Given the description of an element on the screen output the (x, y) to click on. 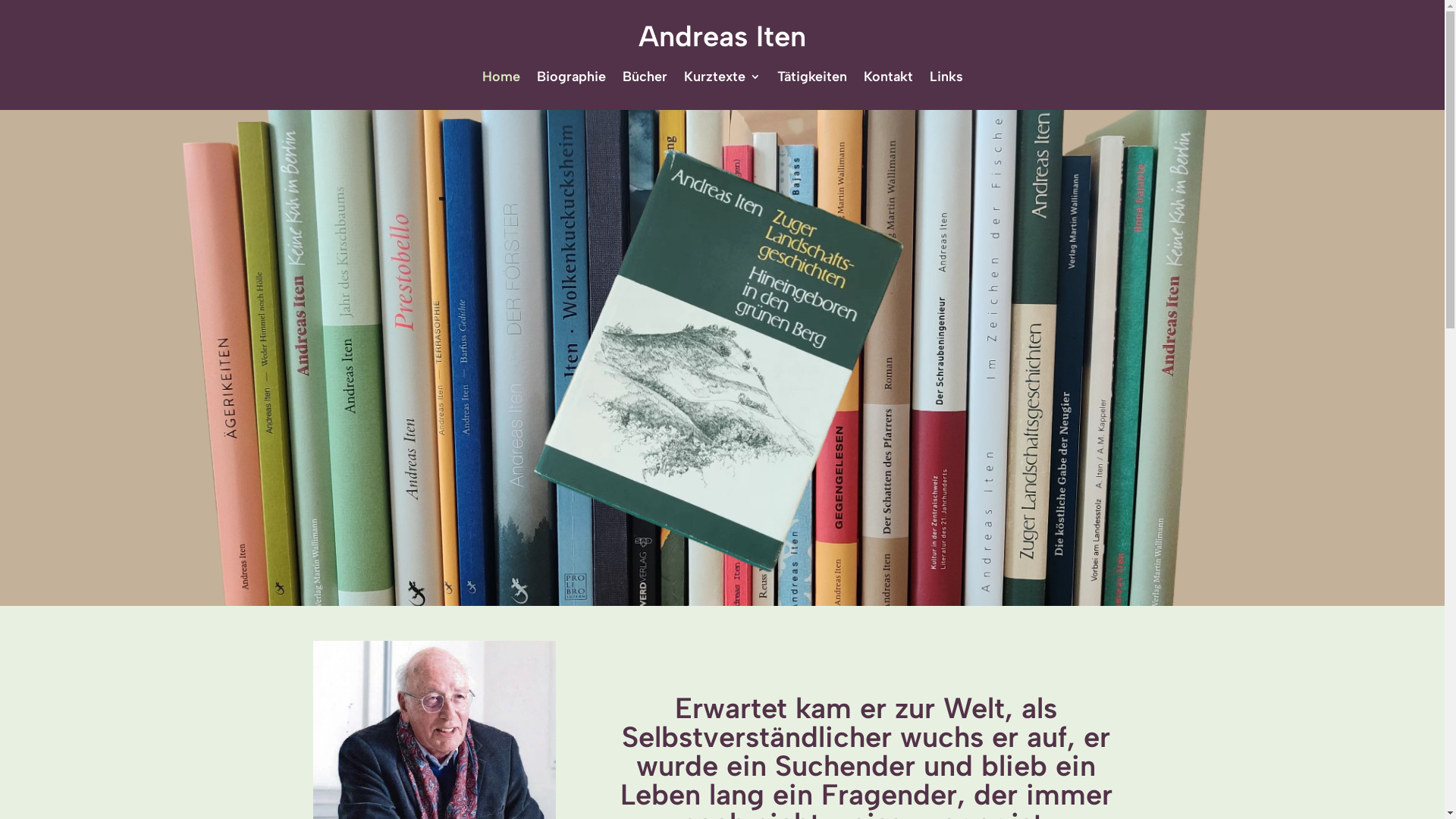
Kontakt Element type: text (887, 79)
Biographie Element type: text (570, 79)
tmpimg Element type: hover (721, 357)
Kurztexte Element type: text (722, 79)
Links Element type: text (946, 79)
Home Element type: text (501, 79)
